Given the description of an element on the screen output the (x, y) to click on. 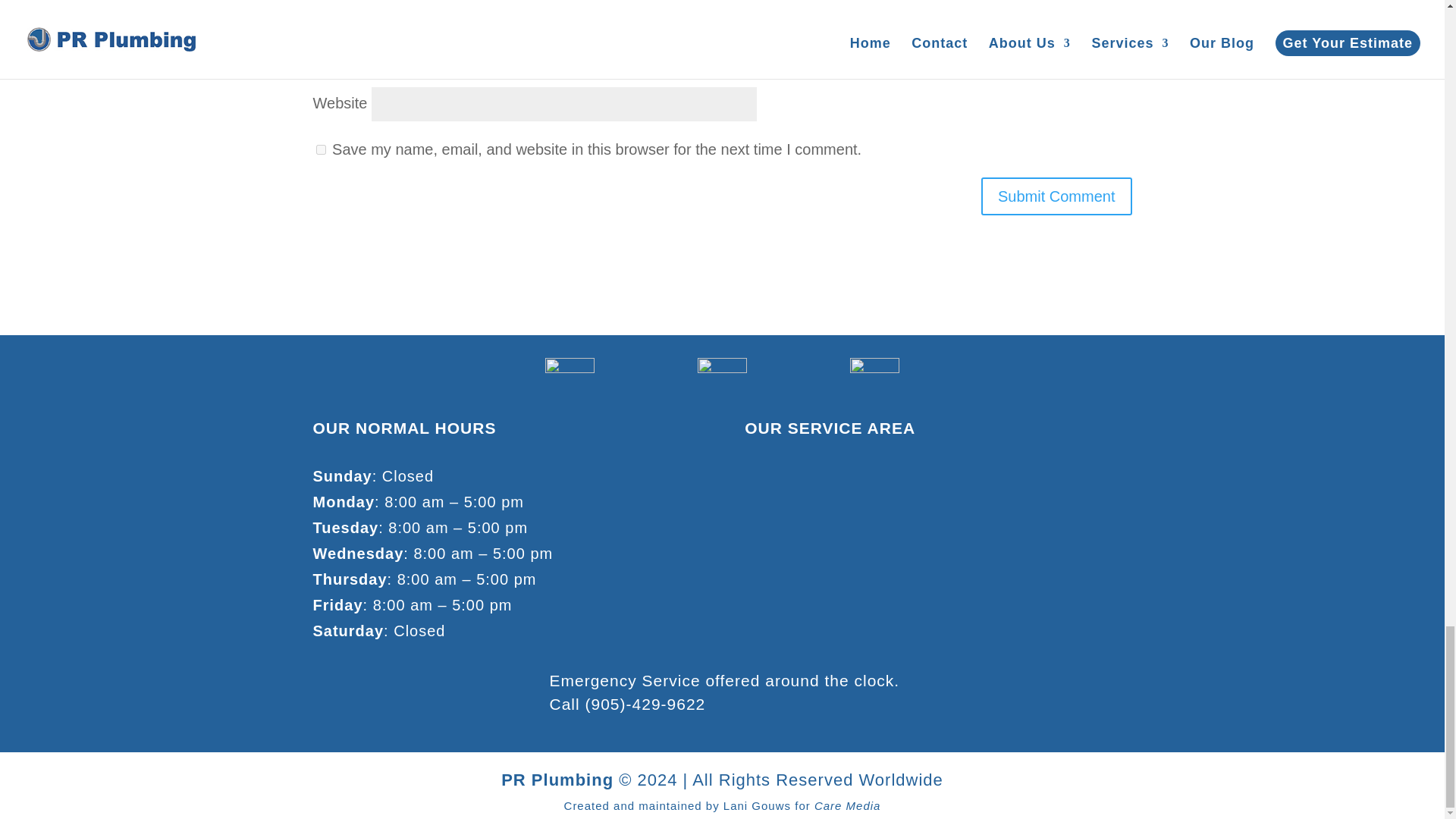
PR Plumbing Google.jpg (569, 382)
Care Media (846, 805)
Submit Comment (1056, 196)
Submit Comment (1056, 196)
yes (319, 149)
